Given the description of an element on the screen output the (x, y) to click on. 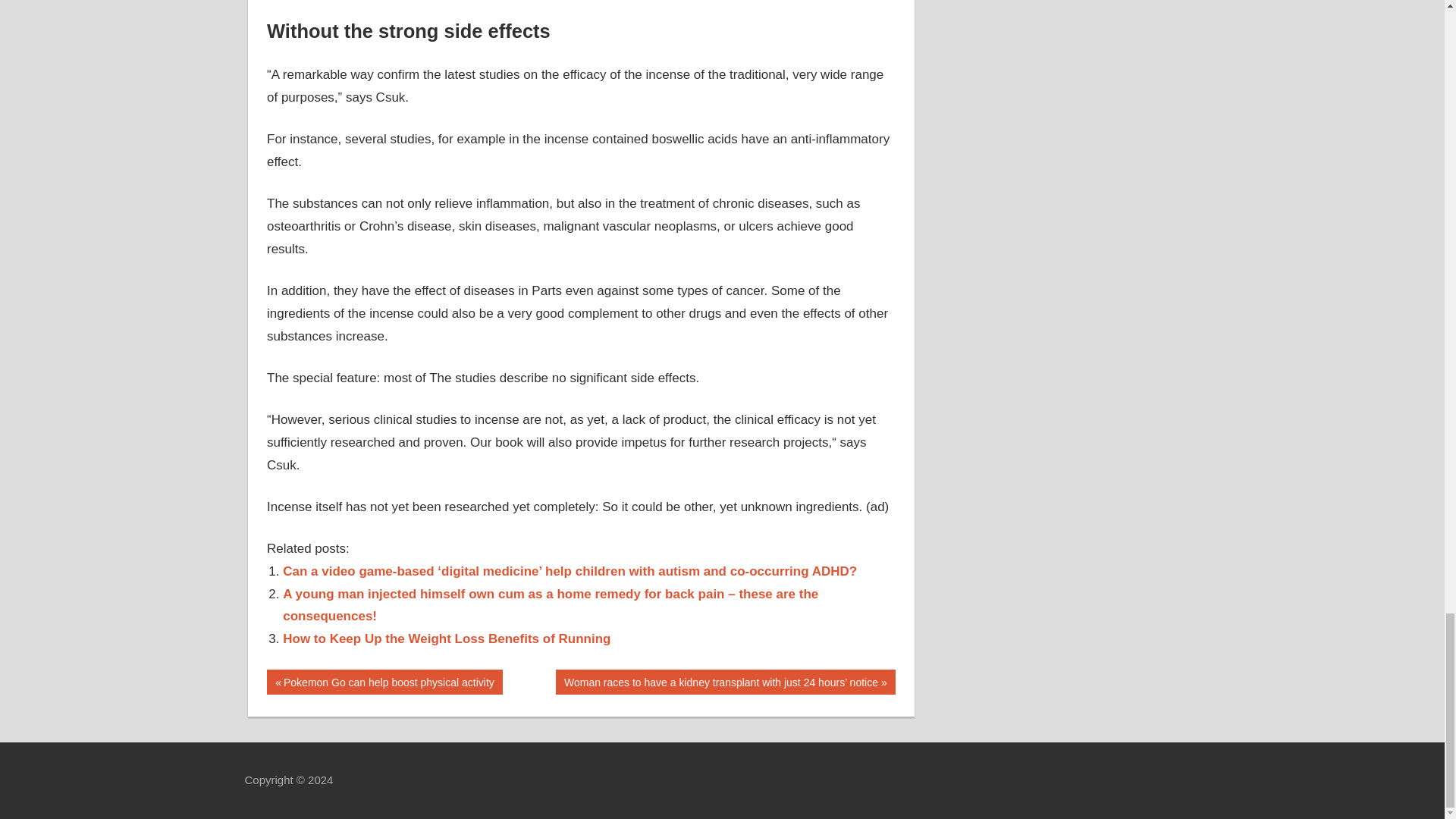
How to Keep Up the Weight Loss Benefits of Running (446, 638)
BOOK (384, 681)
How to Keep Up the Weight Loss Benefits of Running (284, 679)
